Given the description of an element on the screen output the (x, y) to click on. 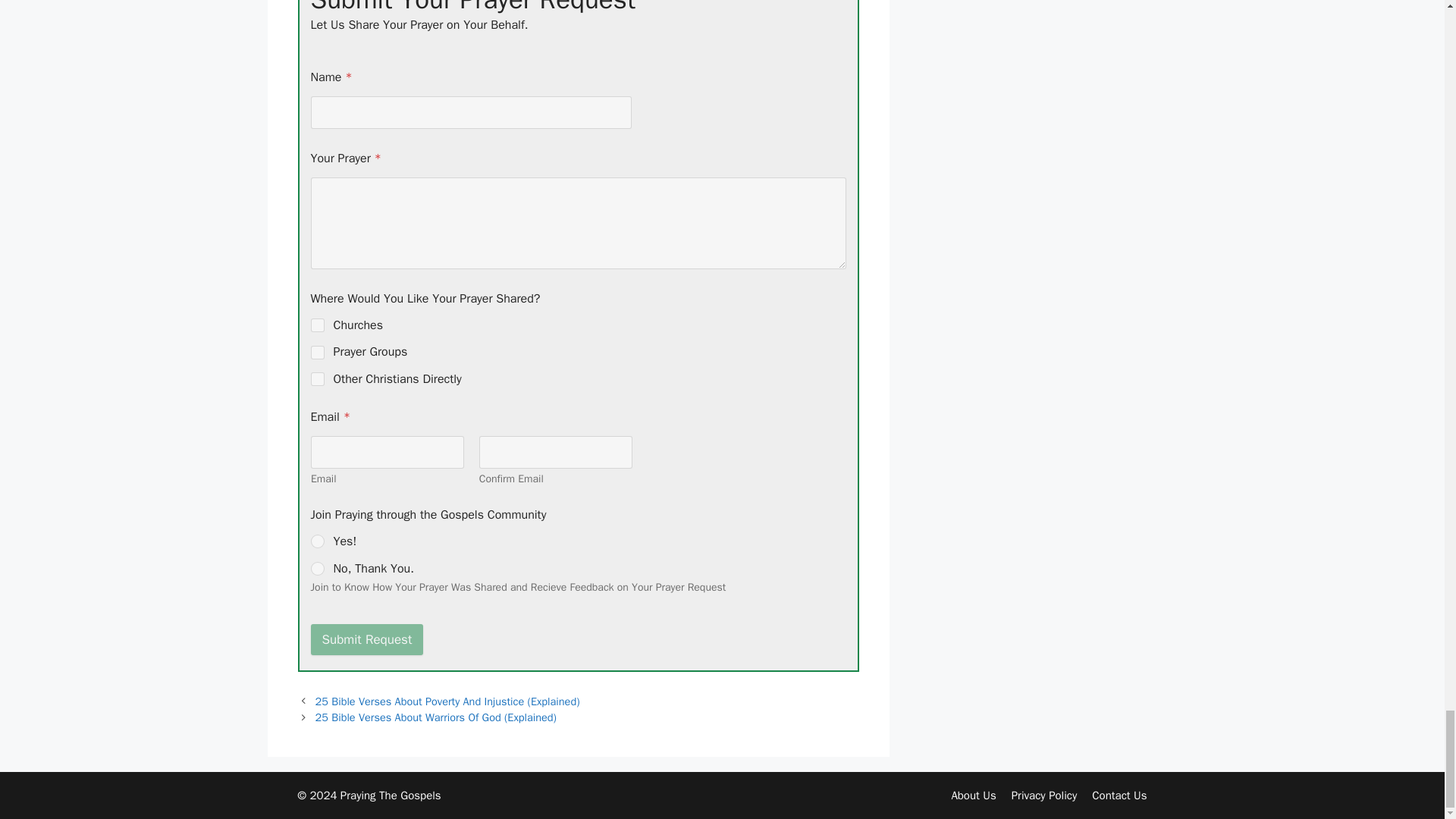
About Us (972, 795)
No, Thank You. (318, 568)
Privacy Policy (1044, 795)
Contact Us (1119, 795)
Submit Request (367, 639)
Other Christians Directly (318, 378)
Churches (318, 325)
Prayer Groups (318, 352)
Yes! (318, 541)
